Given the description of an element on the screen output the (x, y) to click on. 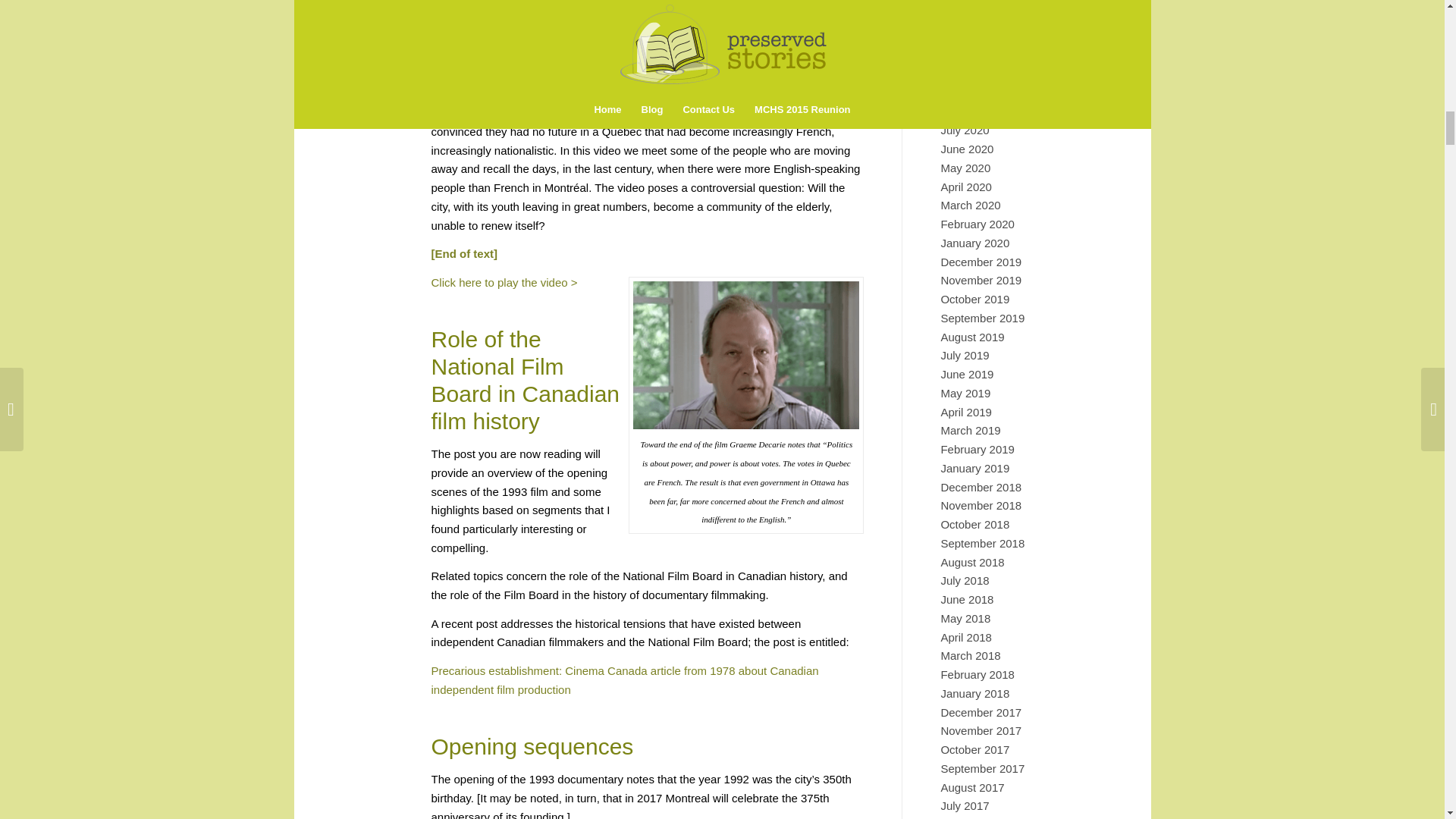
YouTube link (537, 83)
